Given the description of an element on the screen output the (x, y) to click on. 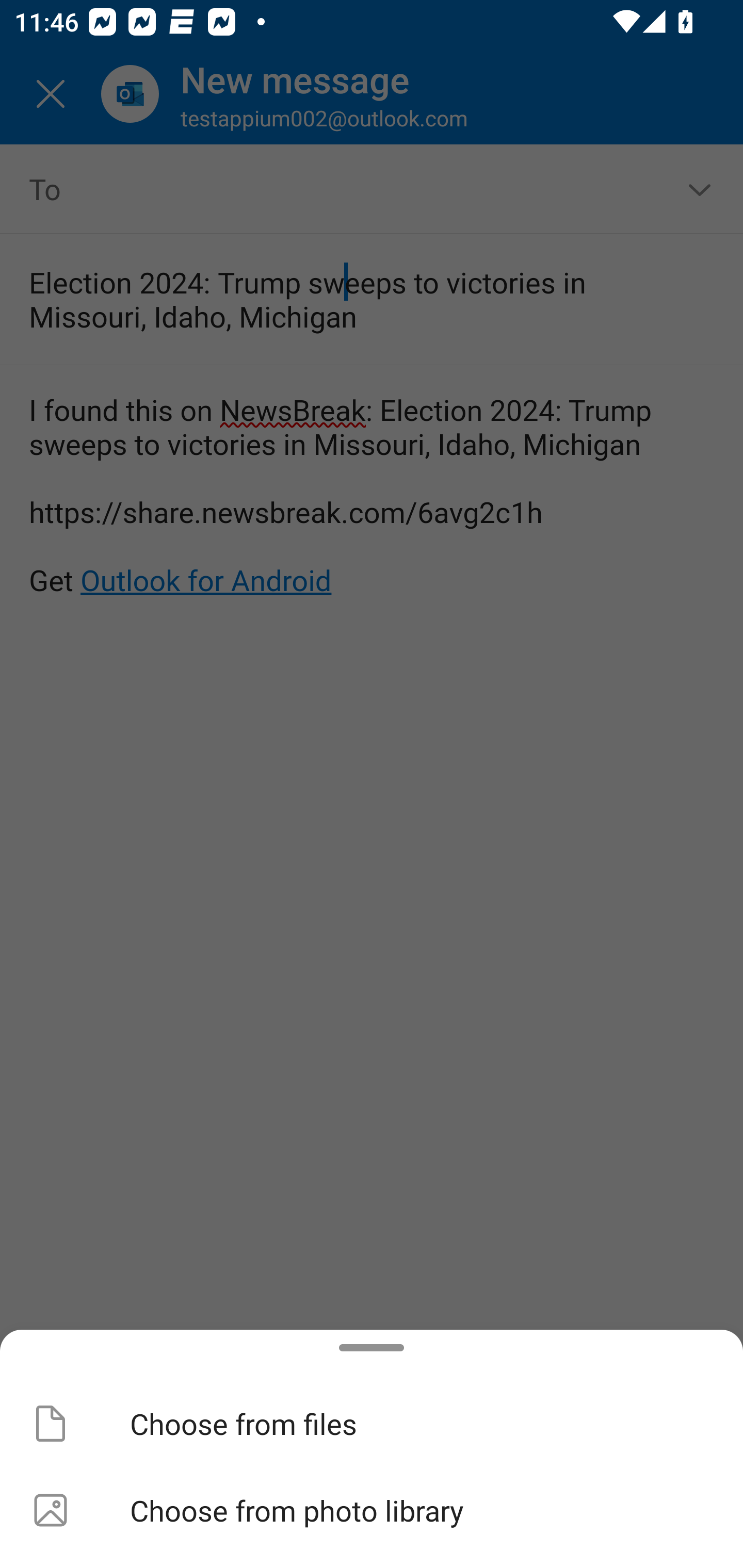
Choose from files (371, 1423)
Choose from photo library (371, 1510)
